Given the description of an element on the screen output the (x, y) to click on. 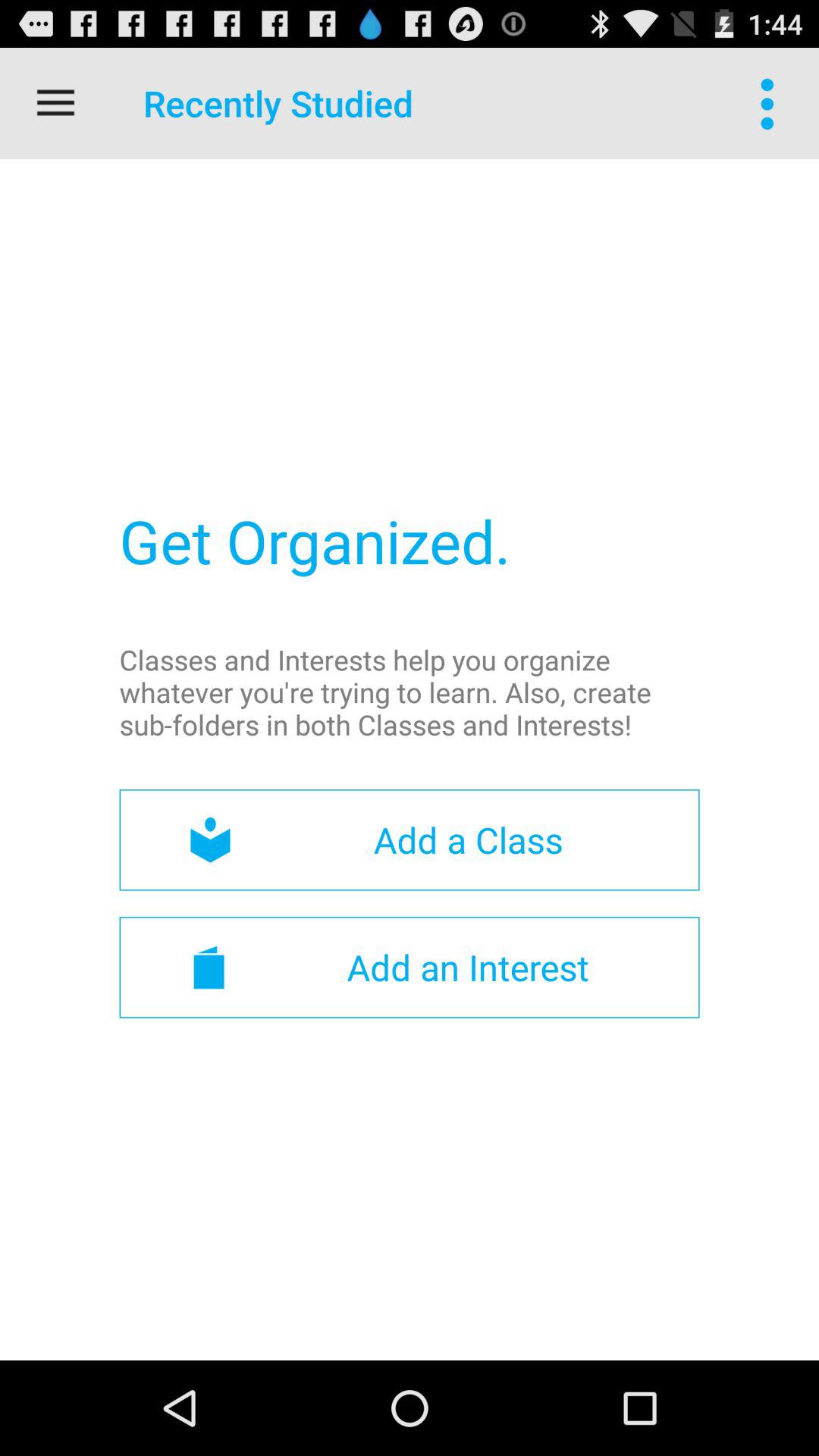
click the item at the top left corner (55, 103)
